Given the description of an element on the screen output the (x, y) to click on. 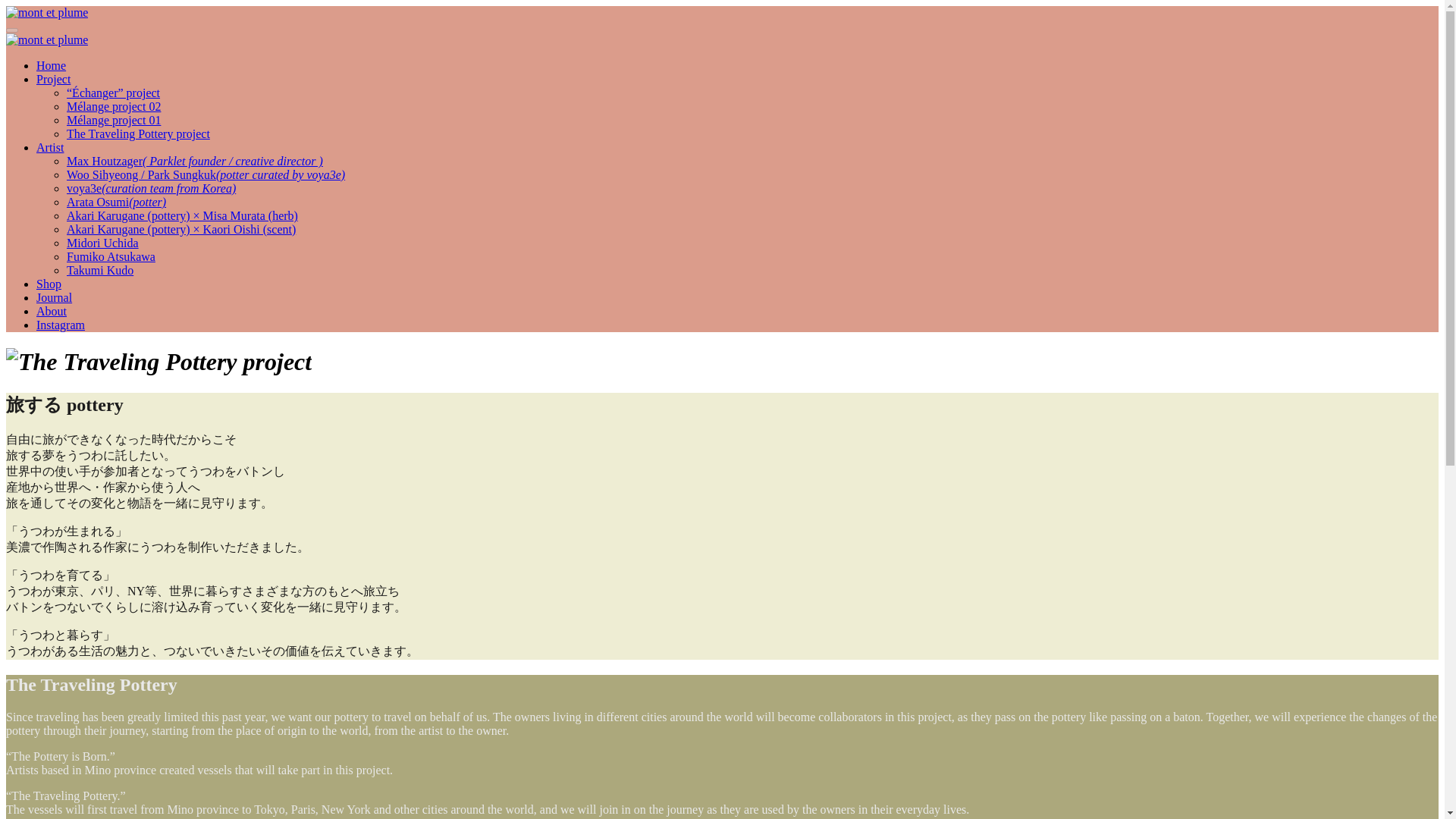
Shop (48, 283)
Project (52, 78)
Takumi Kudo (99, 269)
Artist (50, 146)
Journal (53, 297)
Home (50, 65)
Midori Uchida (102, 242)
Instagram (60, 324)
Fumiko Atsukawa (110, 256)
The Traveling Pottery project (137, 133)
About (51, 310)
